Given the description of an element on the screen output the (x, y) to click on. 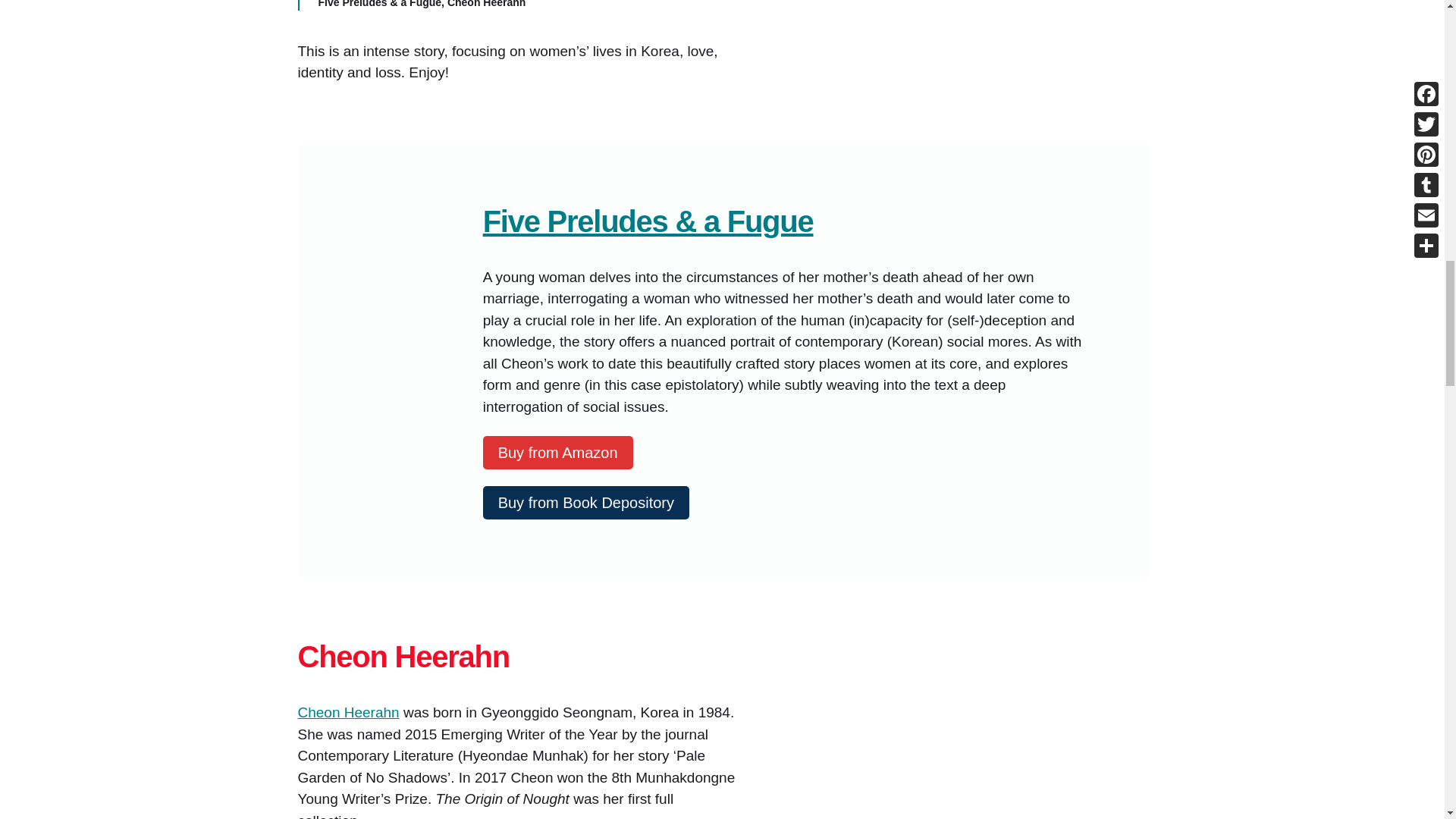
Buy from Amazon (558, 451)
Buy from Book Depository (585, 502)
Cheon Heerahn (347, 712)
